Given the description of an element on the screen output the (x, y) to click on. 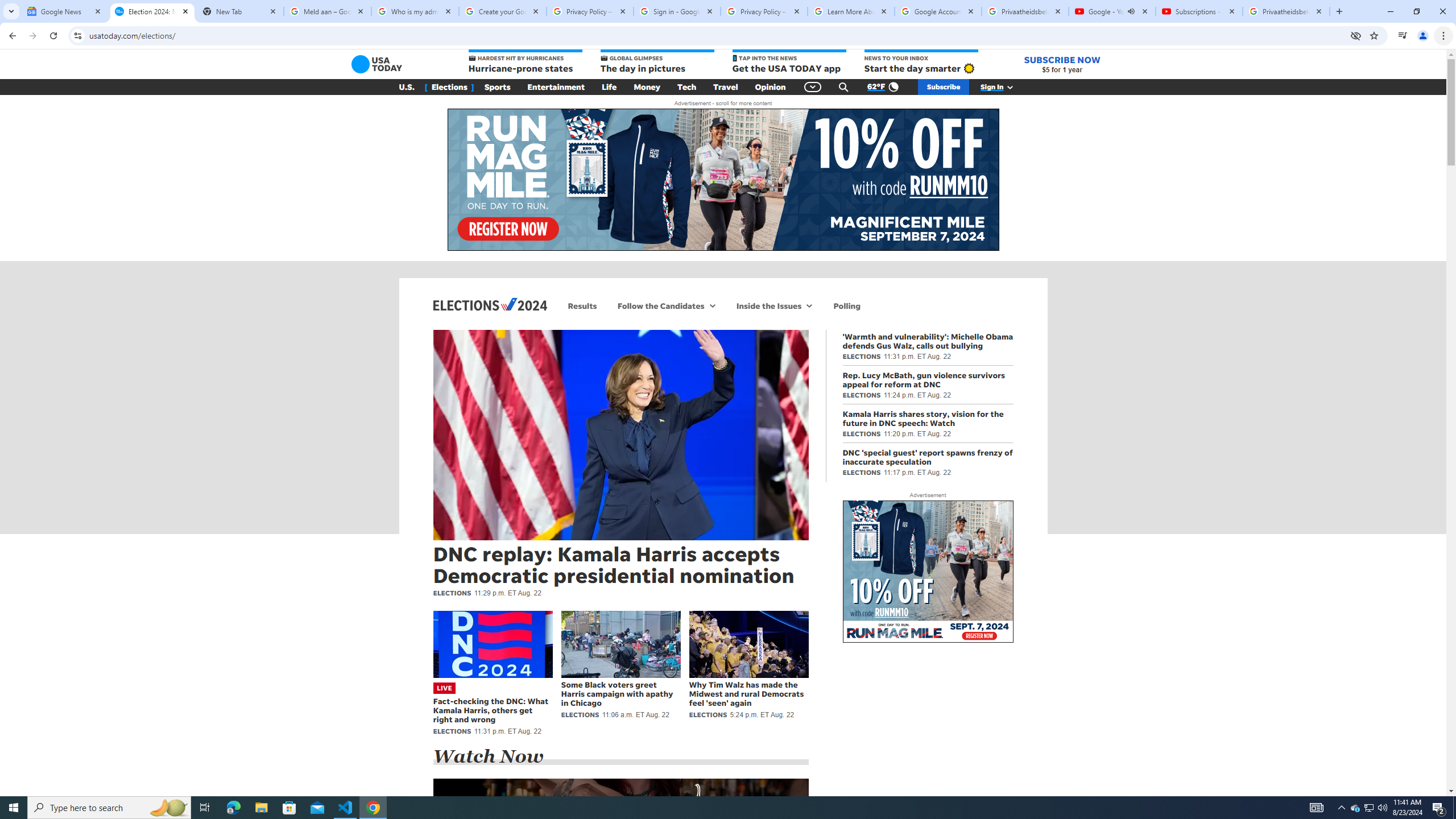
Follow the Candidates (658, 305)
Opinion (770, 87)
Life (609, 87)
U.S. (406, 87)
Google - YouTube - Audio playing (1111, 11)
Create your Google Account (502, 11)
SUBSCRIBE NOW $5 for 1 year (1062, 64)
Polling (846, 305)
Subscriptions - YouTube (1198, 11)
